Given the description of an element on the screen output the (x, y) to click on. 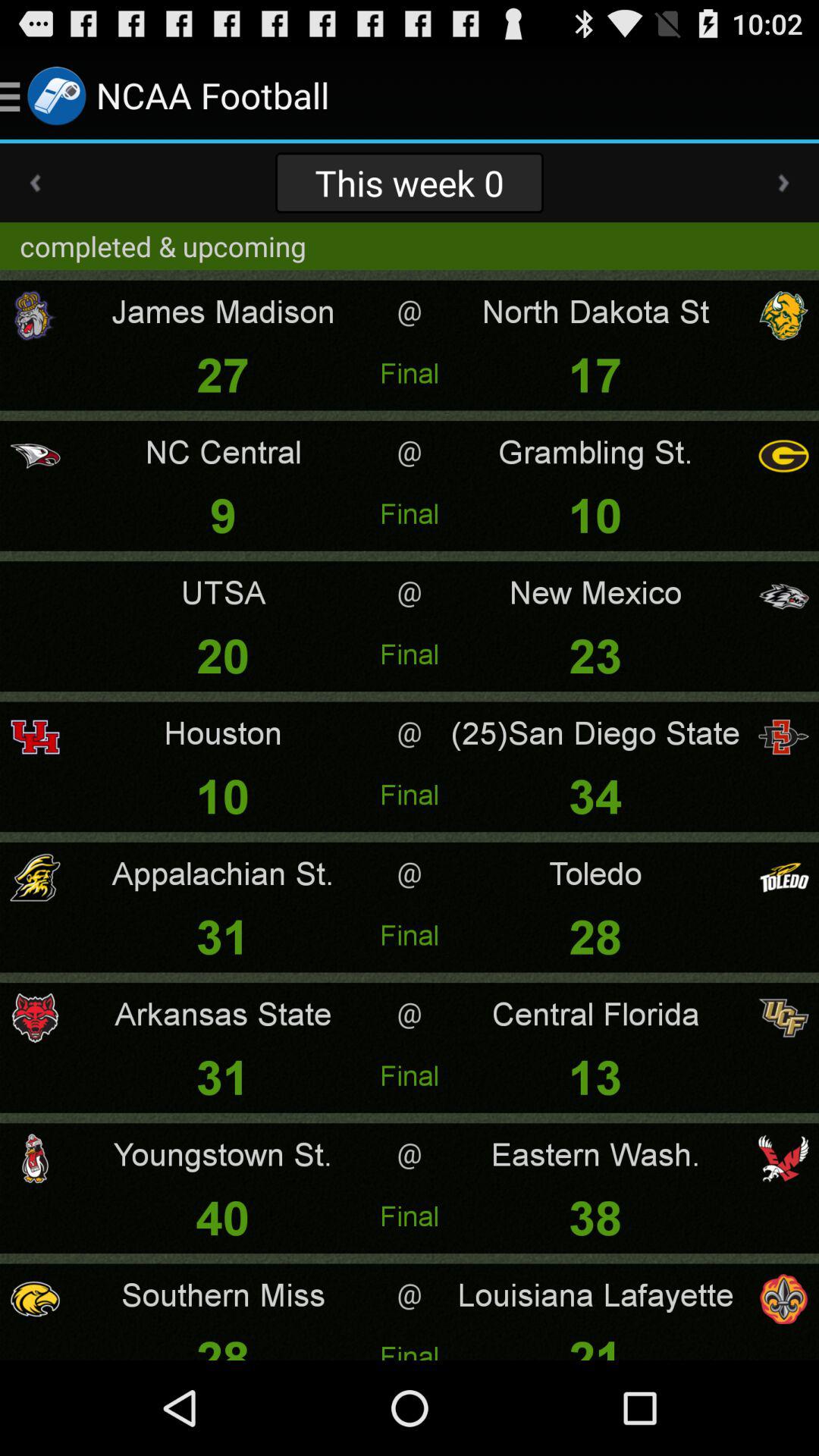
tap icon next to this week 0 app (35, 182)
